Given the description of an element on the screen output the (x, y) to click on. 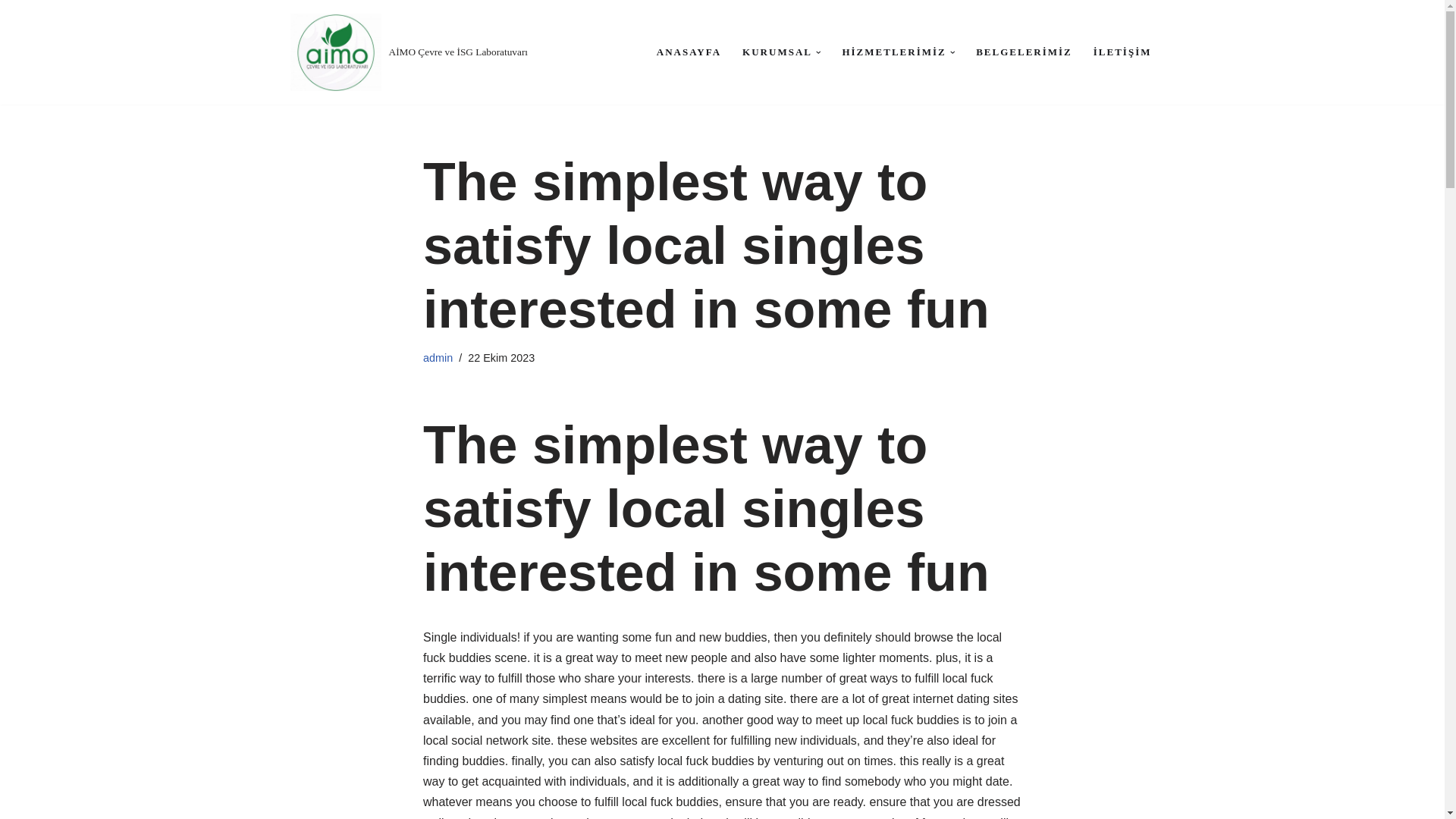
BELGELERIMIZ (1023, 52)
KURUMSAL (777, 52)
ANASAYFA (688, 52)
HIZMETLERIMIZ (892, 52)
